Given the description of an element on the screen output the (x, y) to click on. 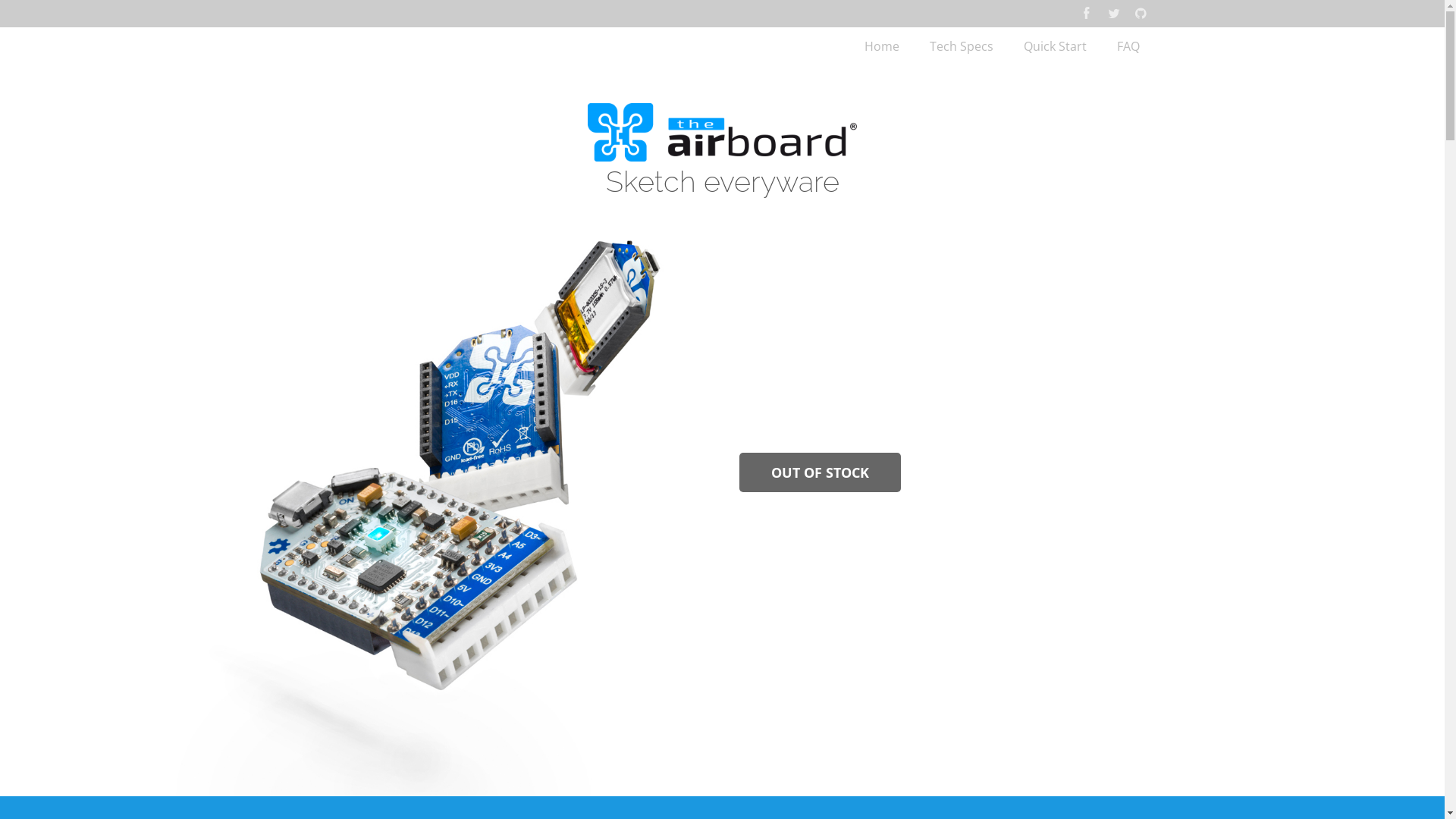
Quick Start Element type: text (1054, 46)
FAQ Element type: text (1127, 46)
Home Element type: text (881, 46)
OUT OF STOCK Element type: text (819, 472)
Tech Specs Element type: text (961, 46)
